Given the description of an element on the screen output the (x, y) to click on. 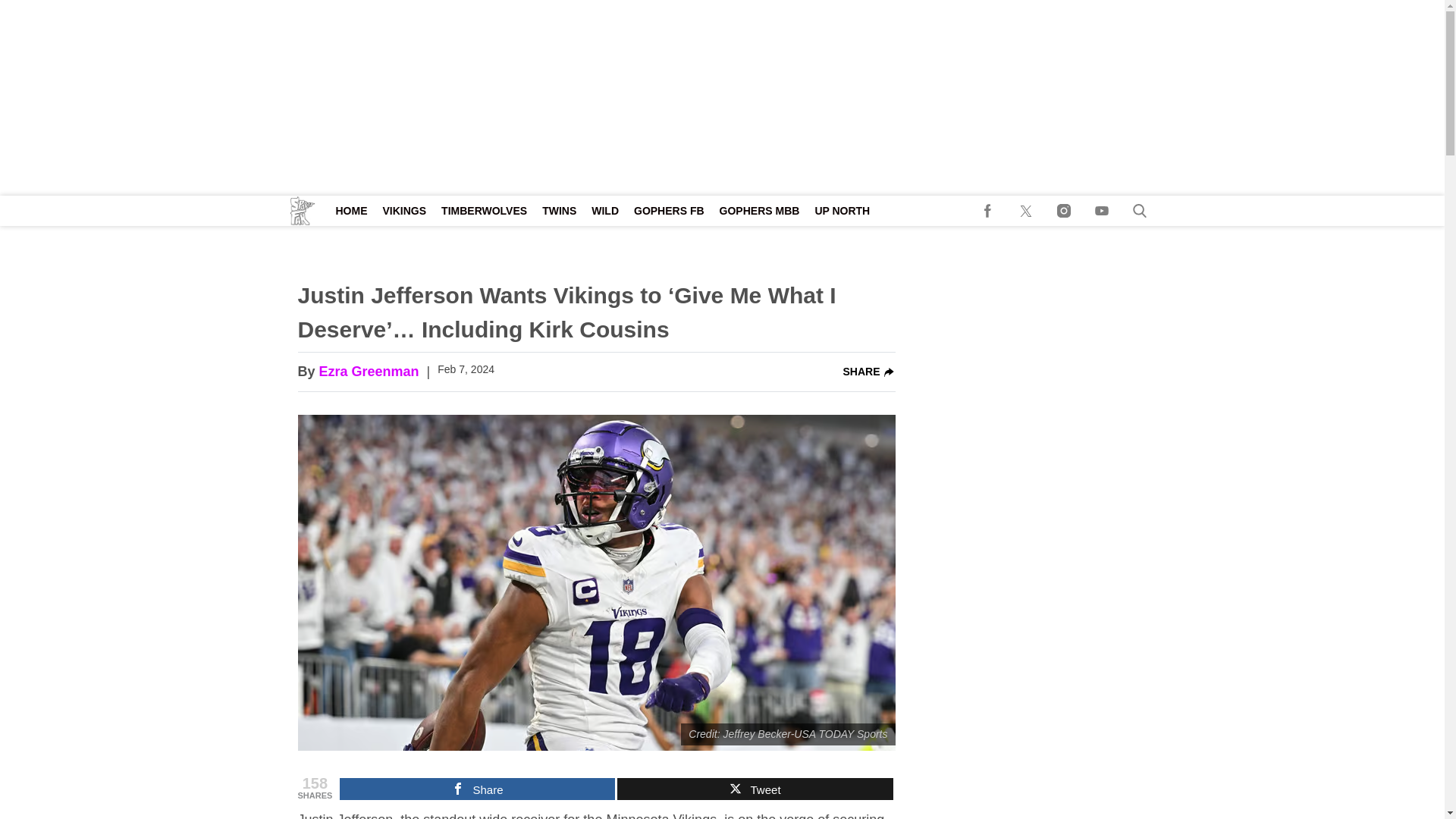
Share (476, 789)
UP NORTH (841, 210)
GOPHERS MBB (759, 210)
Follow us on Facebook (988, 210)
Subscribe to our YouTube channel (1102, 210)
HOME (350, 210)
Ezra Greenman (368, 371)
WILD (604, 210)
Follow us on Instagram (1064, 210)
Posts by Ezra Greenman (368, 371)
